Given the description of an element on the screen output the (x, y) to click on. 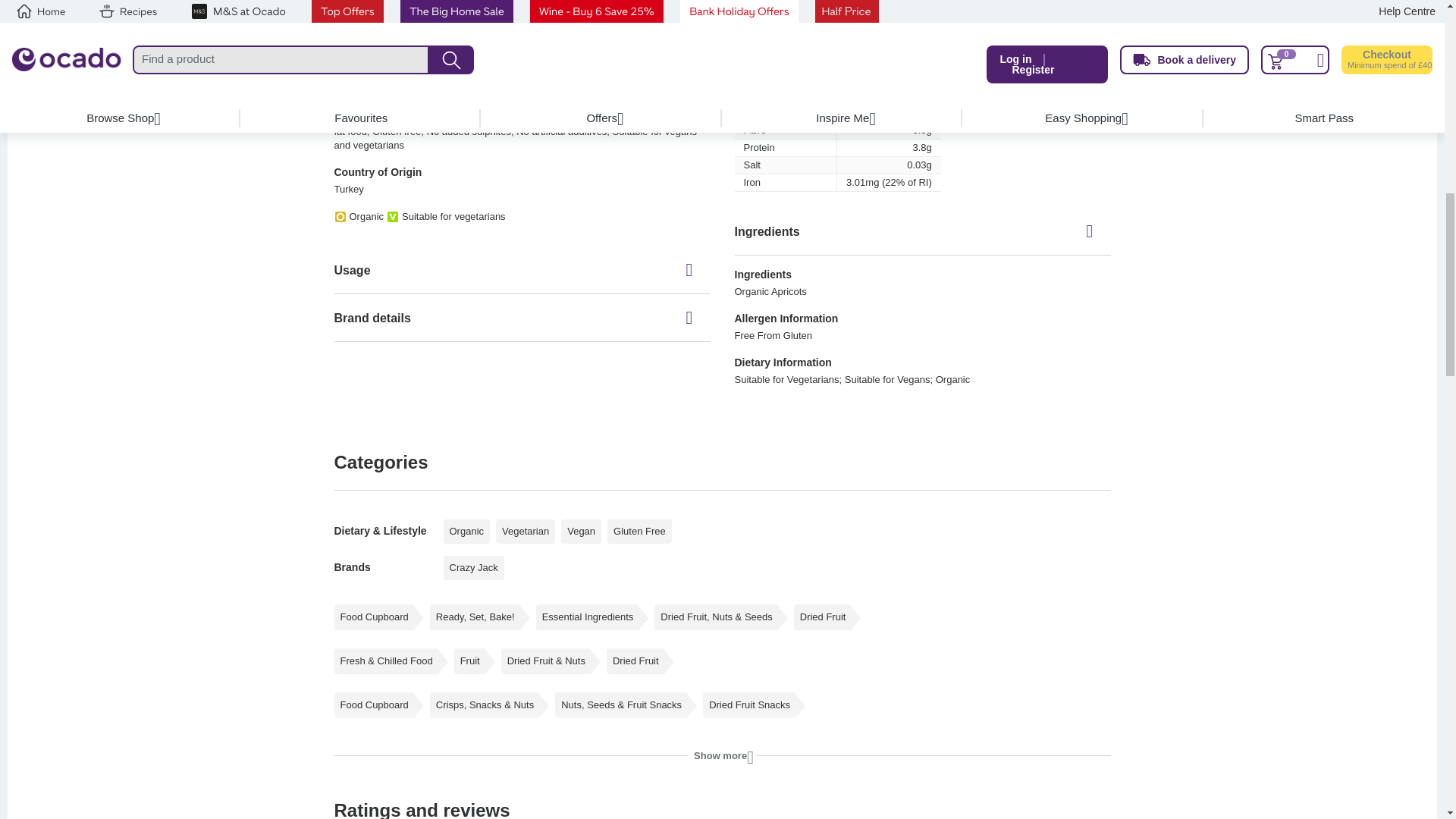
Ingredients (921, 231)
Brand details (521, 317)
Usage (521, 269)
